Given the description of an element on the screen output the (x, y) to click on. 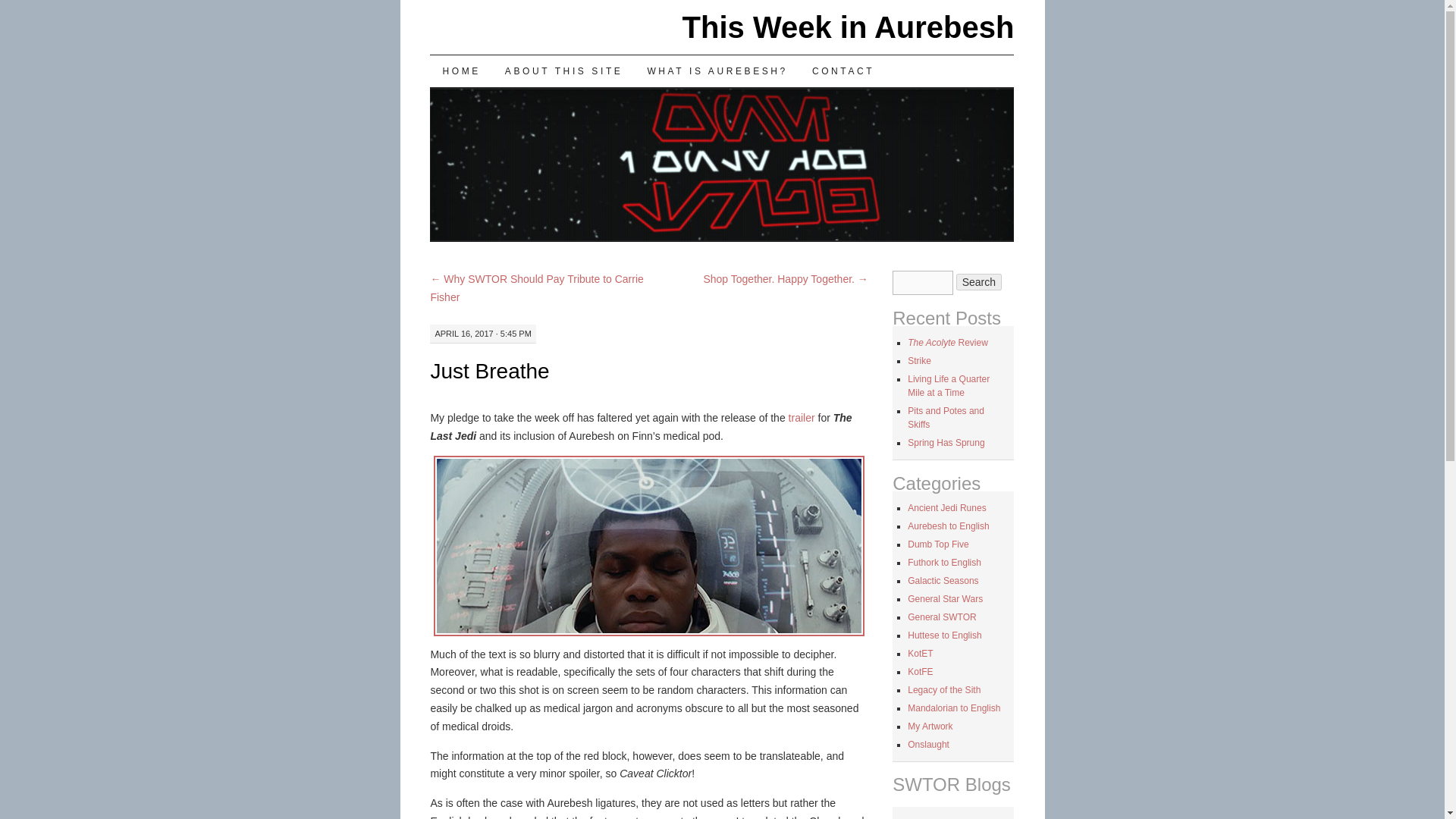
My Artwork (929, 726)
General SWTOR (941, 616)
WHAT IS AUREBESH? (716, 70)
KotET (920, 653)
Just Breathe (488, 371)
Galactic Seasons (942, 580)
Huttese to English (944, 634)
Onslaught (928, 744)
Strike (919, 360)
Search (978, 281)
